Given the description of an element on the screen output the (x, y) to click on. 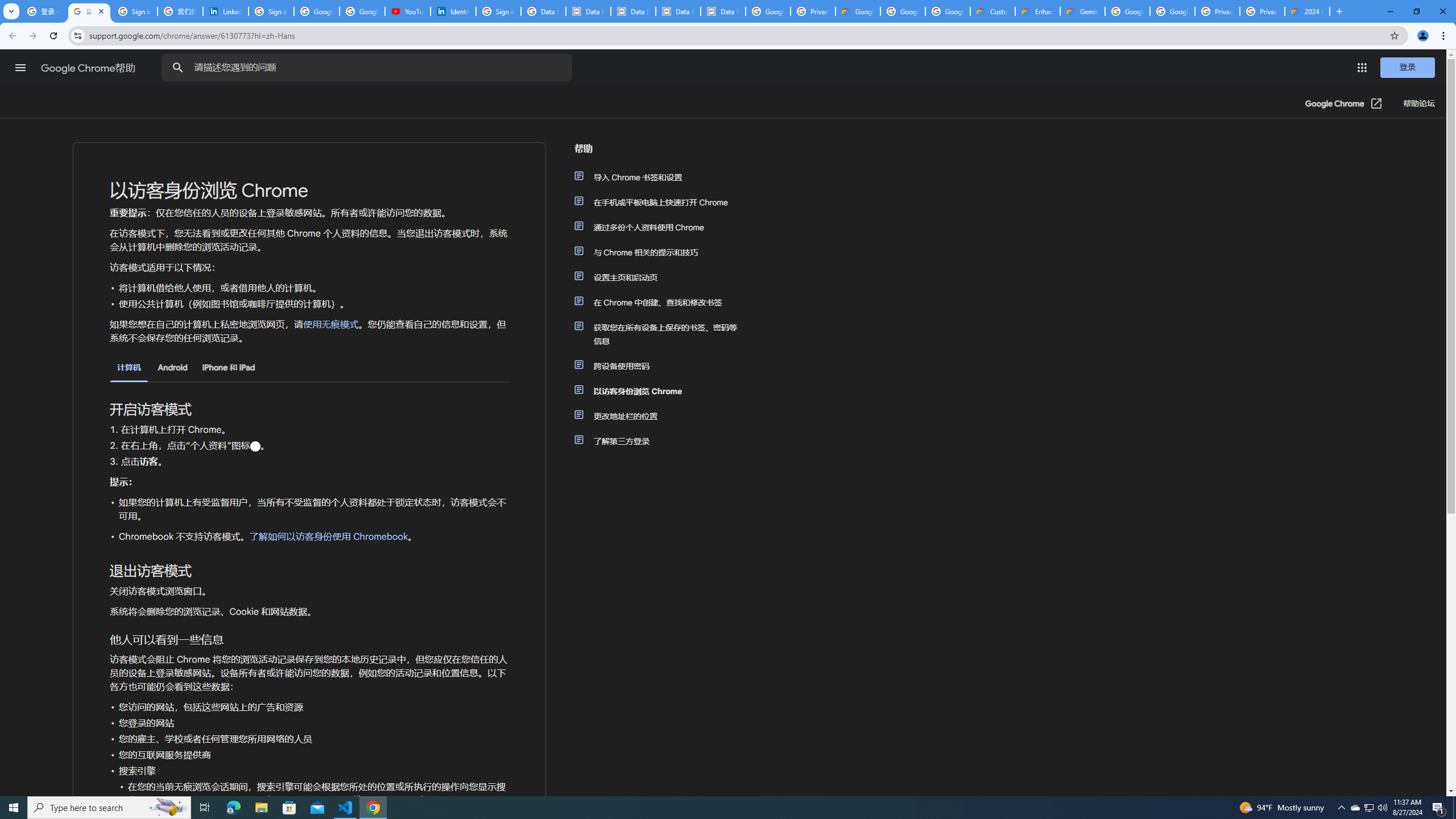
Enhanced Support | Google Cloud (1037, 11)
Customer Care | Google Cloud (992, 11)
LinkedIn Privacy Policy (225, 11)
Sign in - Google Accounts (270, 11)
